Given the description of an element on the screen output the (x, y) to click on. 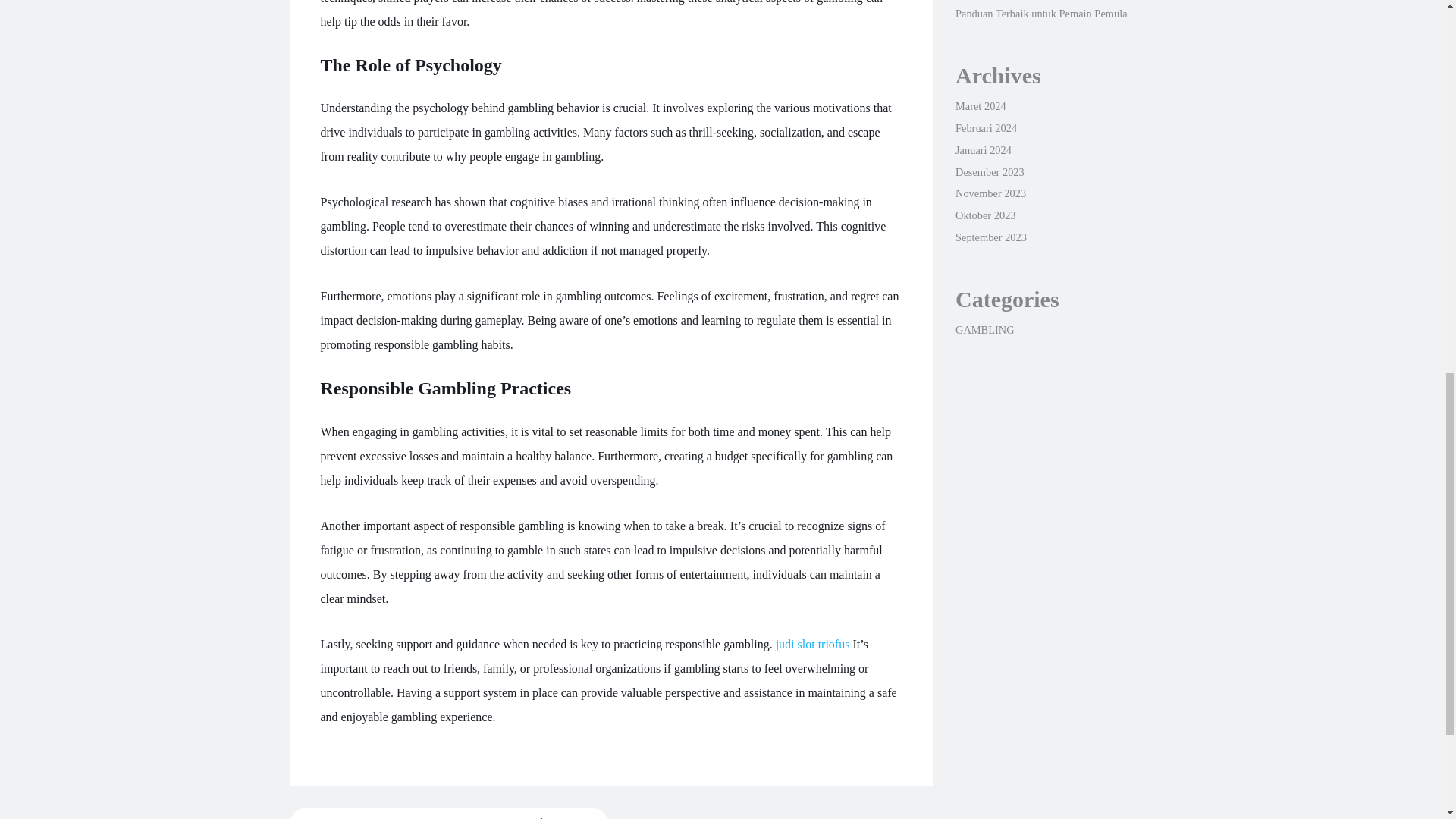
judi slot triofus (813, 644)
Februari 2024 (985, 128)
November 2023 (990, 193)
September 2023 (990, 236)
Oktober 2023 (985, 215)
Januari 2024 (983, 150)
Maret 2024 (980, 105)
Desember 2023 (990, 172)
GAMBLING (984, 329)
